Given the description of an element on the screen output the (x, y) to click on. 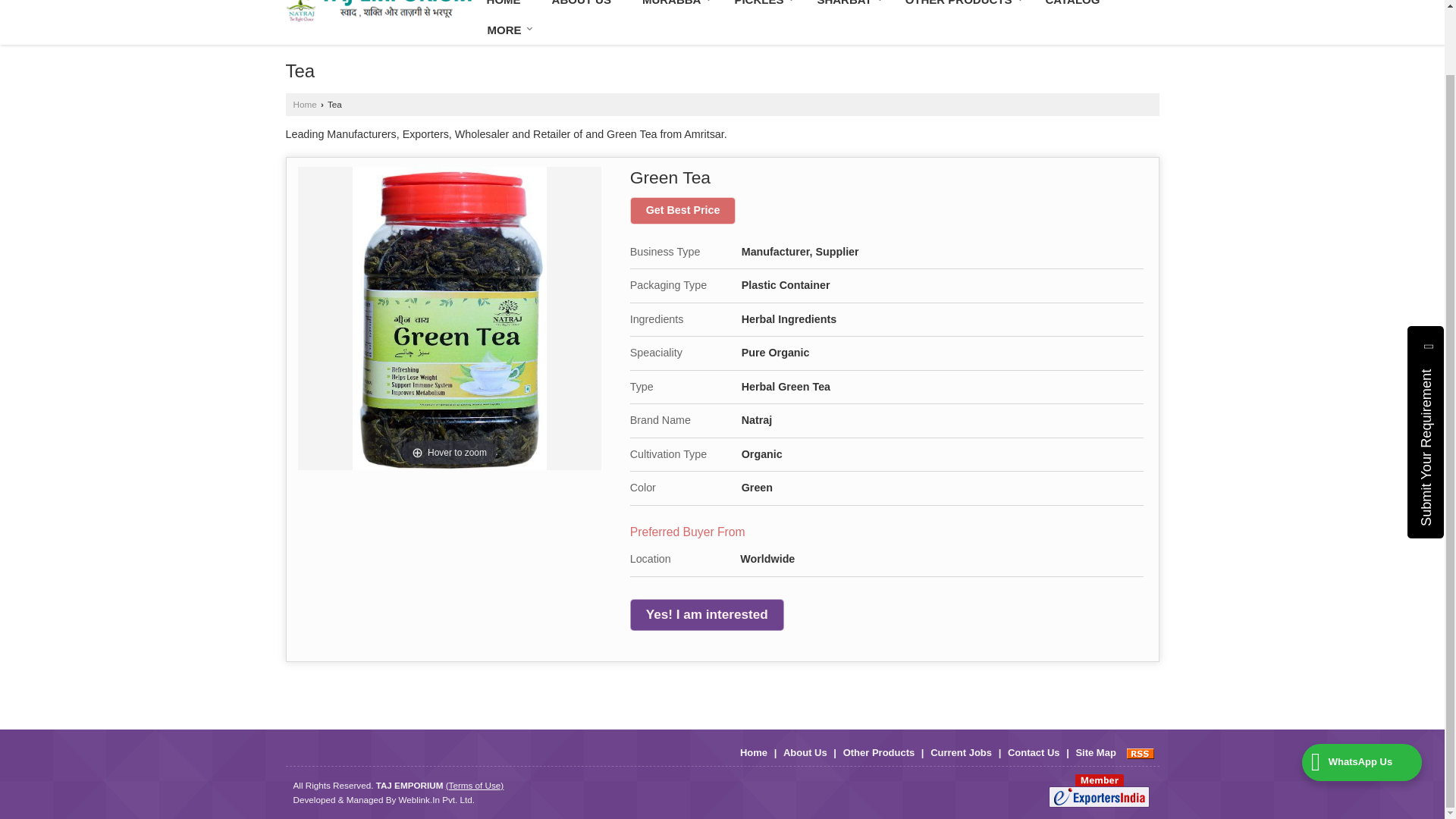
ABOUT US (581, 7)
About Us (581, 7)
HOME (503, 7)
OTHER PRODUCTS (959, 7)
MURABBA (673, 7)
Murabba (673, 7)
Pickles (759, 7)
Home (503, 7)
SHARBAT (845, 7)
TAJ EMPORIUM (377, 11)
PICKLES (759, 7)
